Given the description of an element on the screen output the (x, y) to click on. 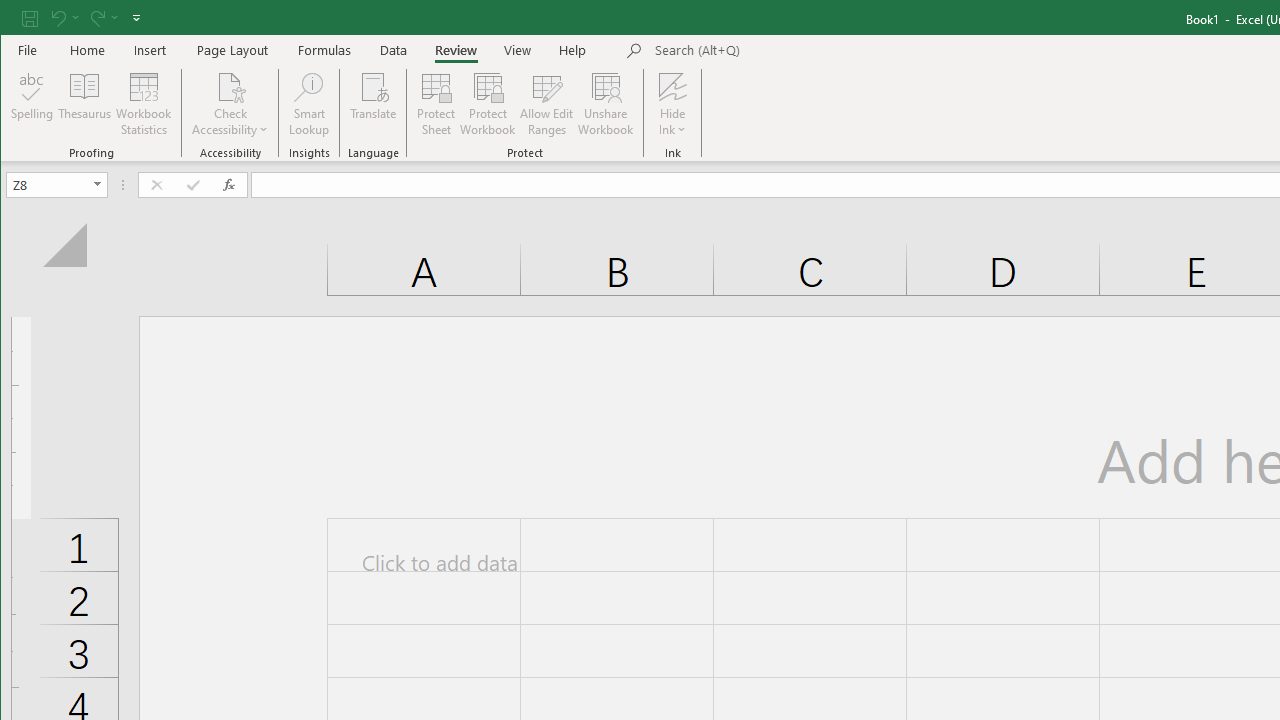
Unshare Workbook (606, 104)
Check Accessibility (230, 104)
Protect Workbook... (488, 104)
Workbook Statistics (143, 104)
Smart Lookup (308, 104)
Thesaurus... (84, 104)
